Given the description of an element on the screen output the (x, y) to click on. 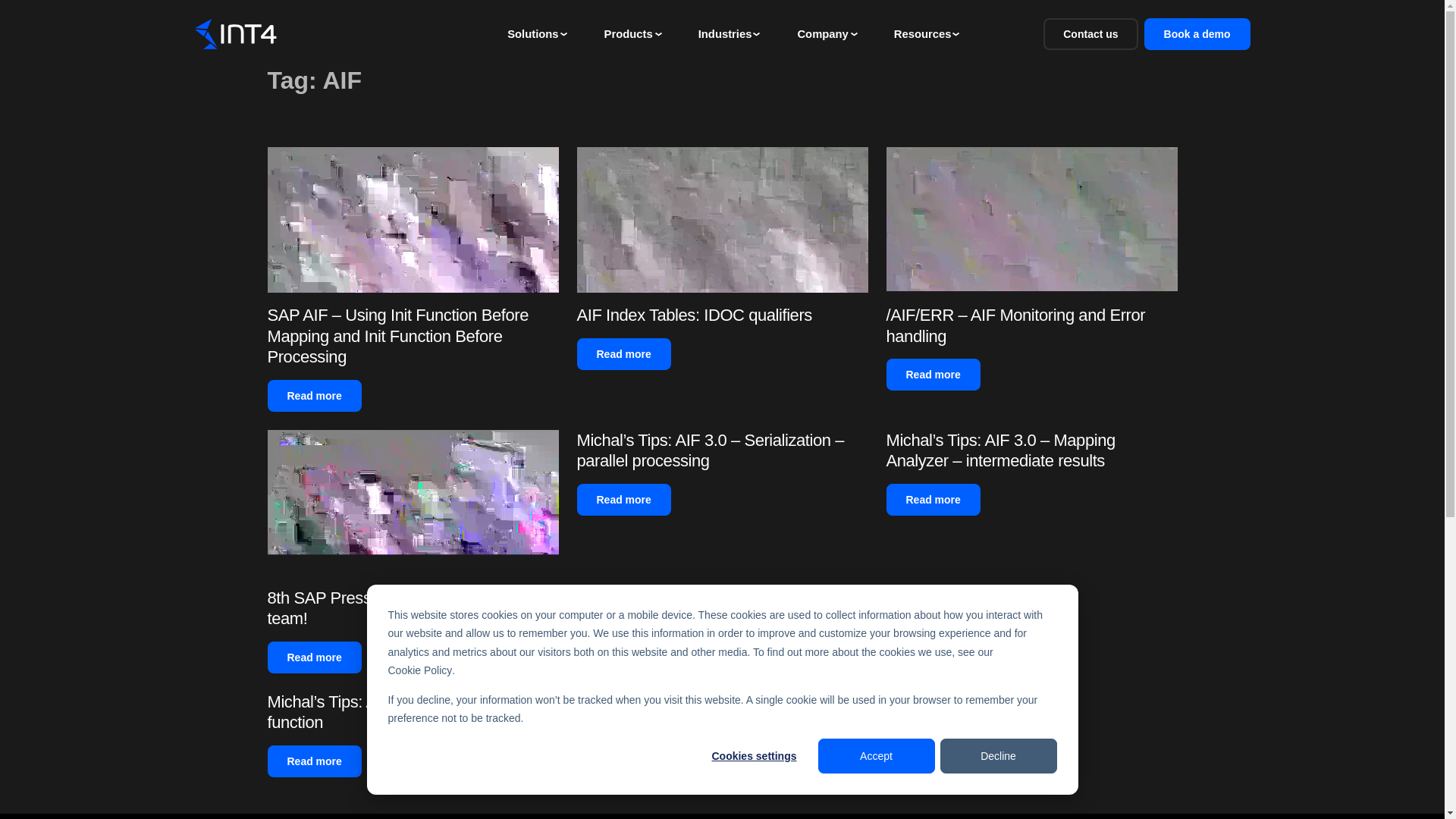
Industries (725, 33)
Cookie Policy (420, 670)
Read more (313, 395)
Resources (922, 33)
Company (821, 33)
Book a demo (1197, 33)
Products (628, 33)
Contact us (1090, 33)
Solutions (531, 33)
